Given the description of an element on the screen output the (x, y) to click on. 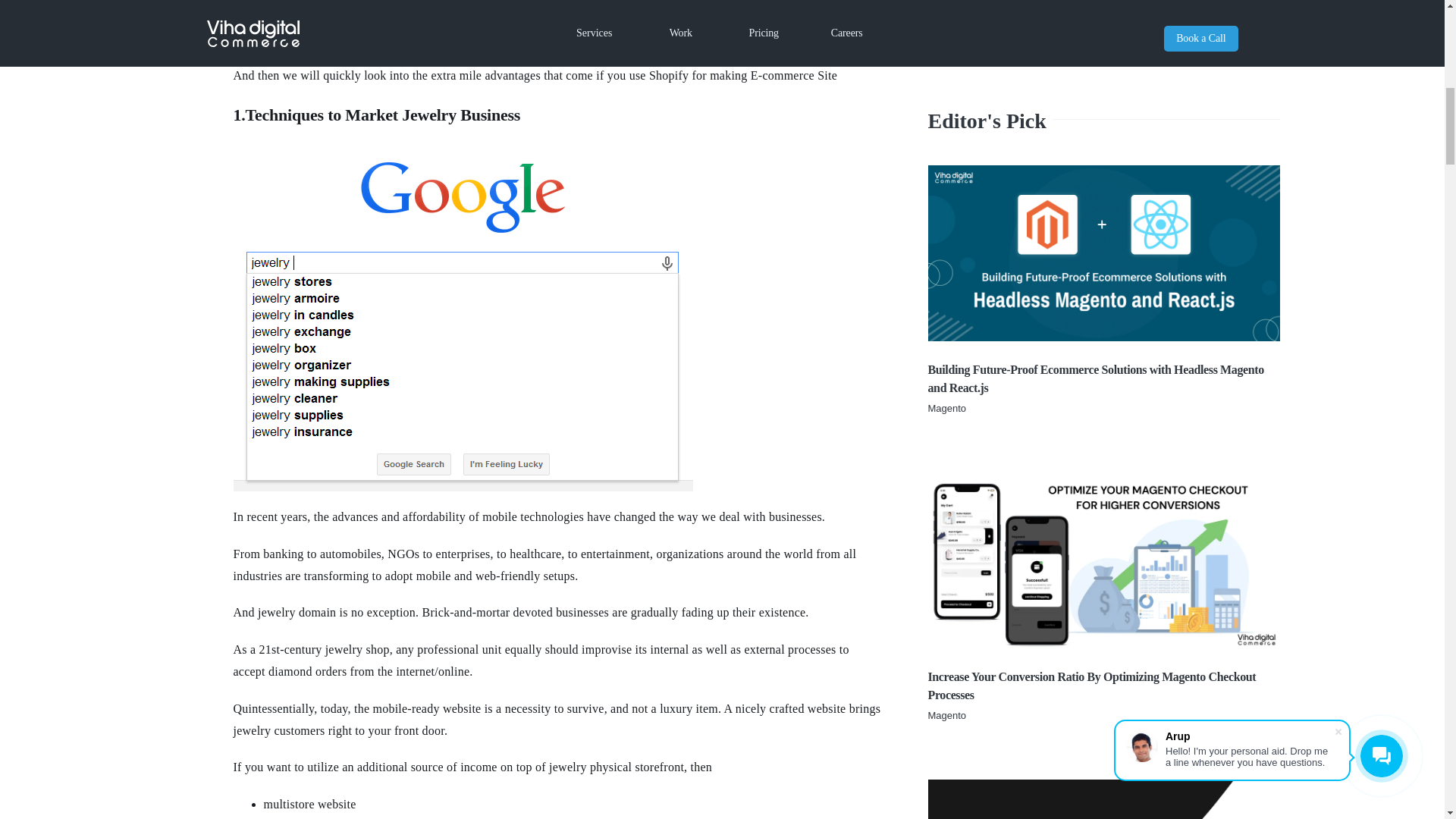
Get In Touch (1103, 697)
